Given the description of an element on the screen output the (x, y) to click on. 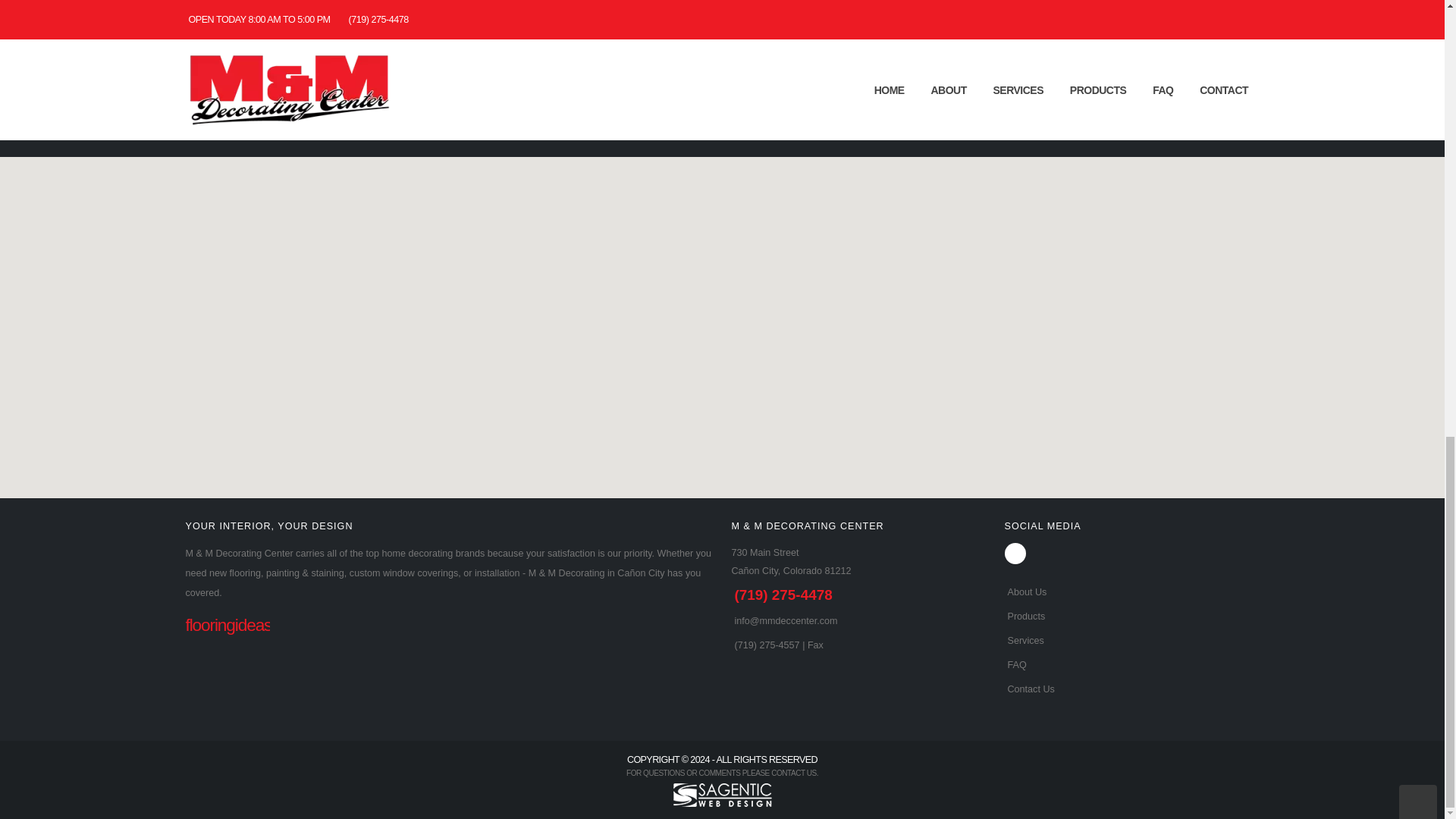
Products (1024, 615)
Facebook (1014, 553)
About Us (1025, 592)
Contact Us (1029, 688)
Services (1023, 640)
FAQ (1015, 665)
LET'S TALK! (721, 98)
FOR QUESTIONS OR COMMENTS PLEASE CONTACT US. (722, 773)
